Given the description of an element on the screen output the (x, y) to click on. 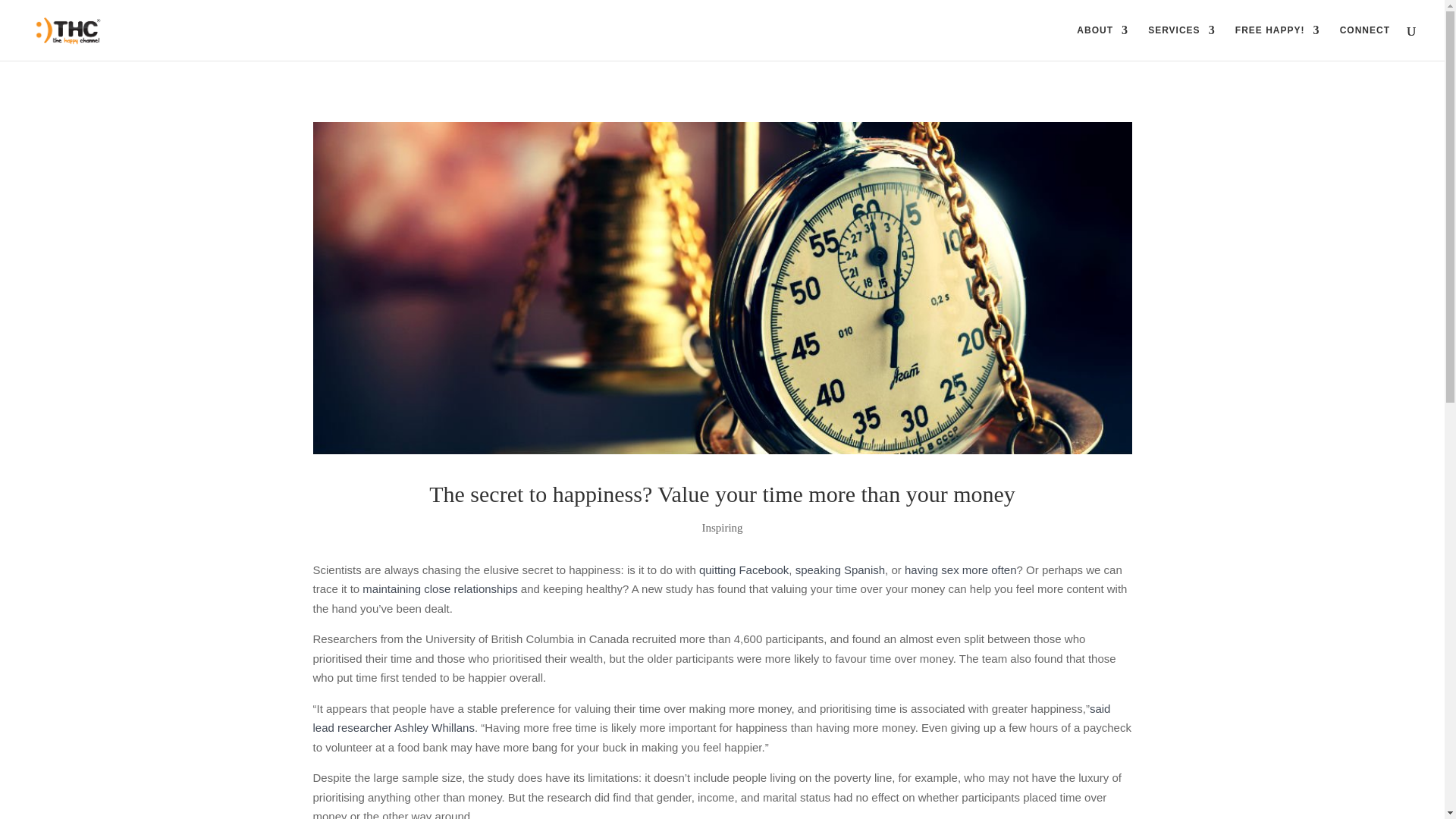
speaking Spanish (839, 569)
quitting Facebook (743, 569)
maintaining close relationships (439, 588)
ABOUT (1102, 42)
said lead researcher Ashley Whillans (711, 717)
SERVICES (1181, 42)
Inspiring (721, 527)
having sex more often (960, 569)
CONNECT (1364, 42)
FREE HAPPY! (1277, 42)
